Given the description of an element on the screen output the (x, y) to click on. 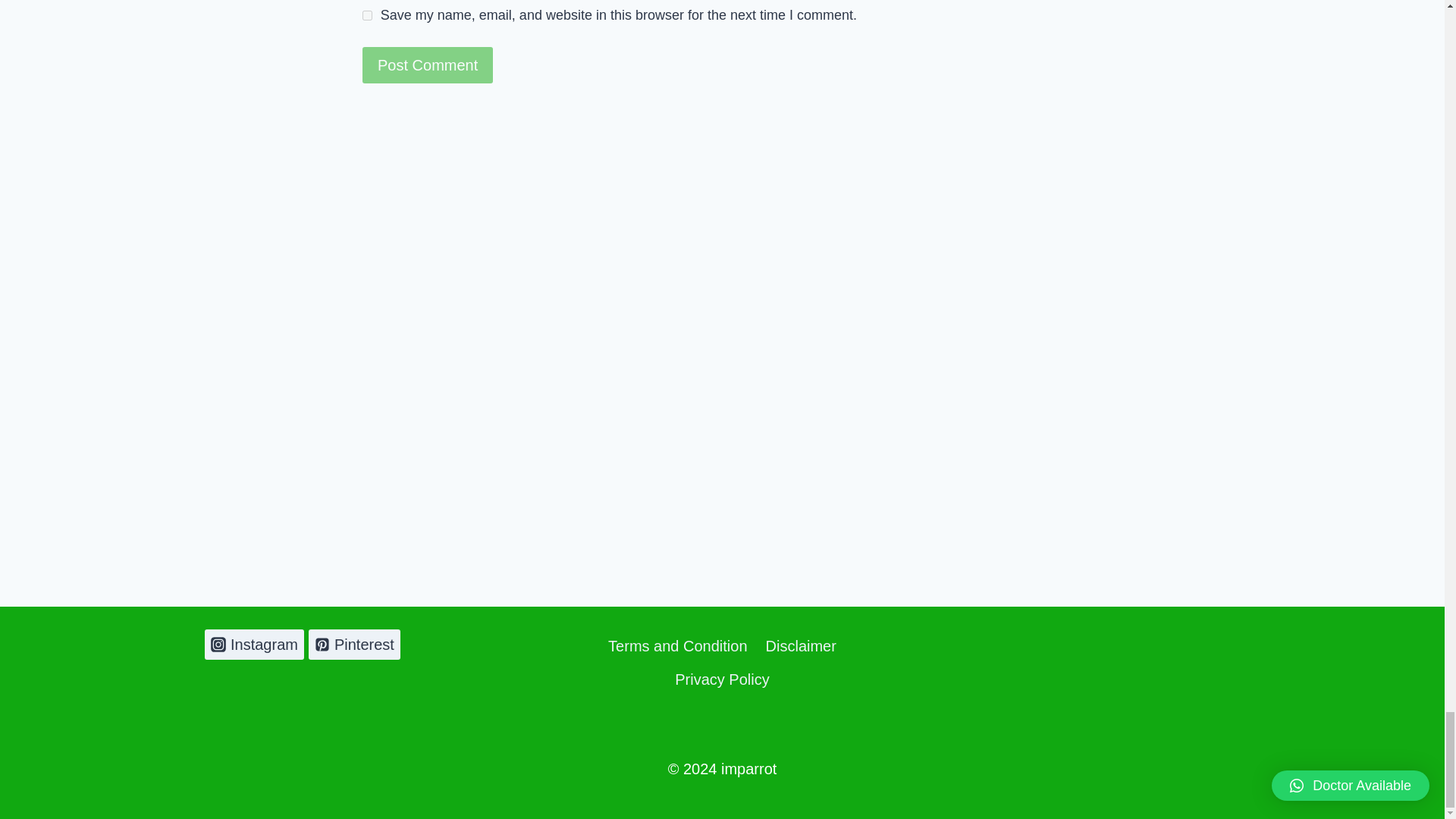
Post Comment (427, 64)
yes (367, 15)
